Given the description of an element on the screen output the (x, y) to click on. 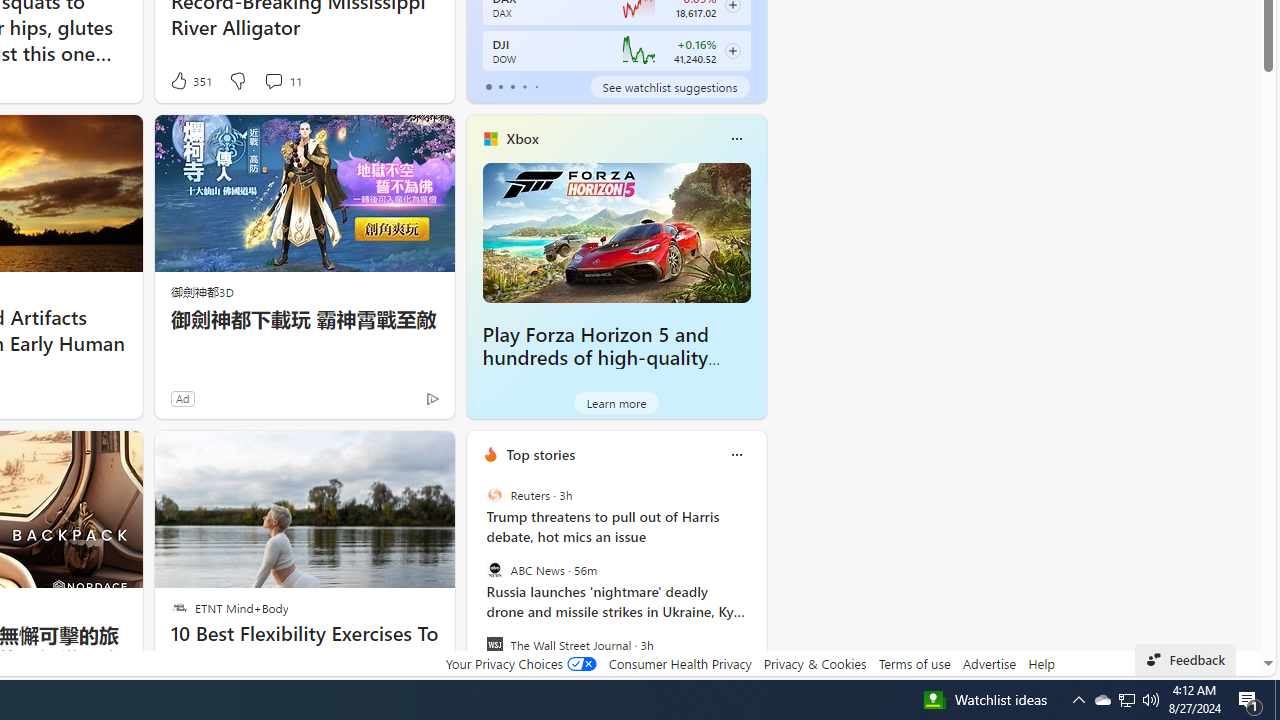
The Wall Street Journal (494, 644)
Your Privacy Choices (520, 663)
tab-0 (488, 86)
Reuters (494, 494)
Learn more (616, 402)
Top stories (540, 454)
351 Like (190, 80)
tab-3 (524, 86)
See watchlist suggestions (669, 86)
